Given the description of an element on the screen output the (x, y) to click on. 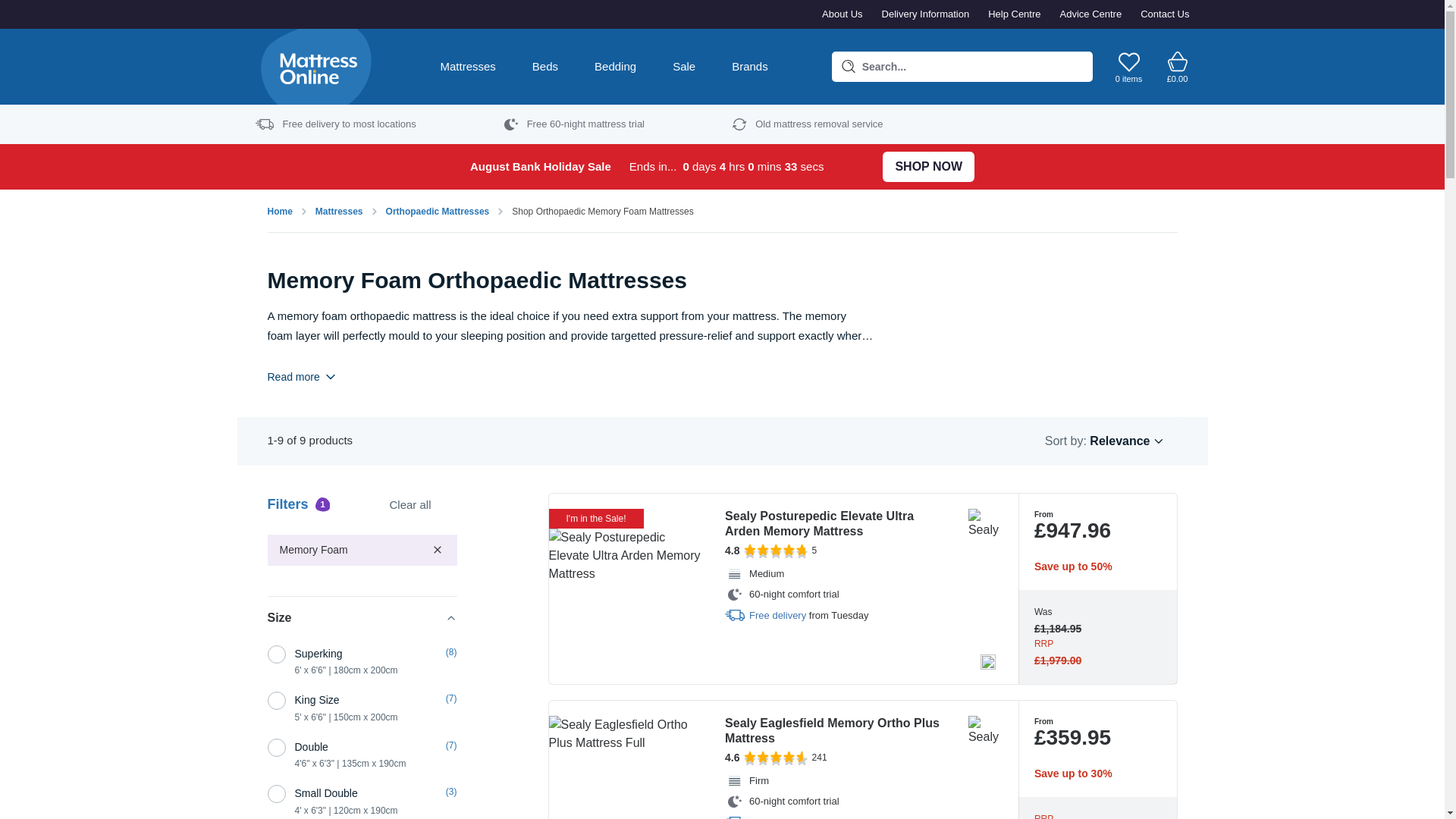
Delivery Information (925, 13)
Search (846, 66)
Go to Homepage (314, 66)
Home (279, 211)
Brands (750, 67)
Read more (301, 364)
Advice Centre (1090, 13)
Wishlist Product (987, 661)
Help Centre (1014, 13)
Contact Us (1164, 13)
